Given the description of an element on the screen output the (x, y) to click on. 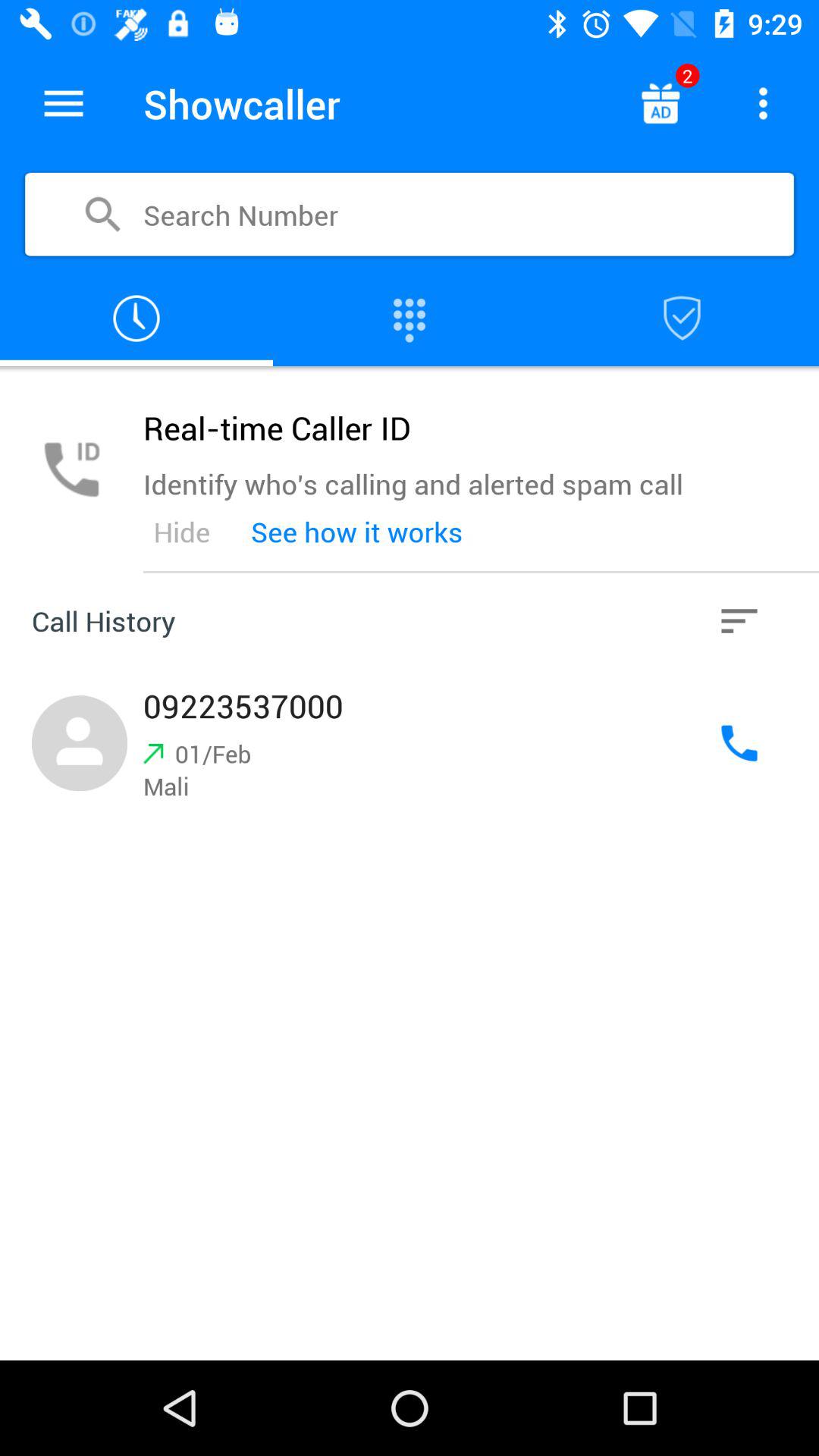
show settings or changes (763, 103)
